Given the description of an element on the screen output the (x, y) to click on. 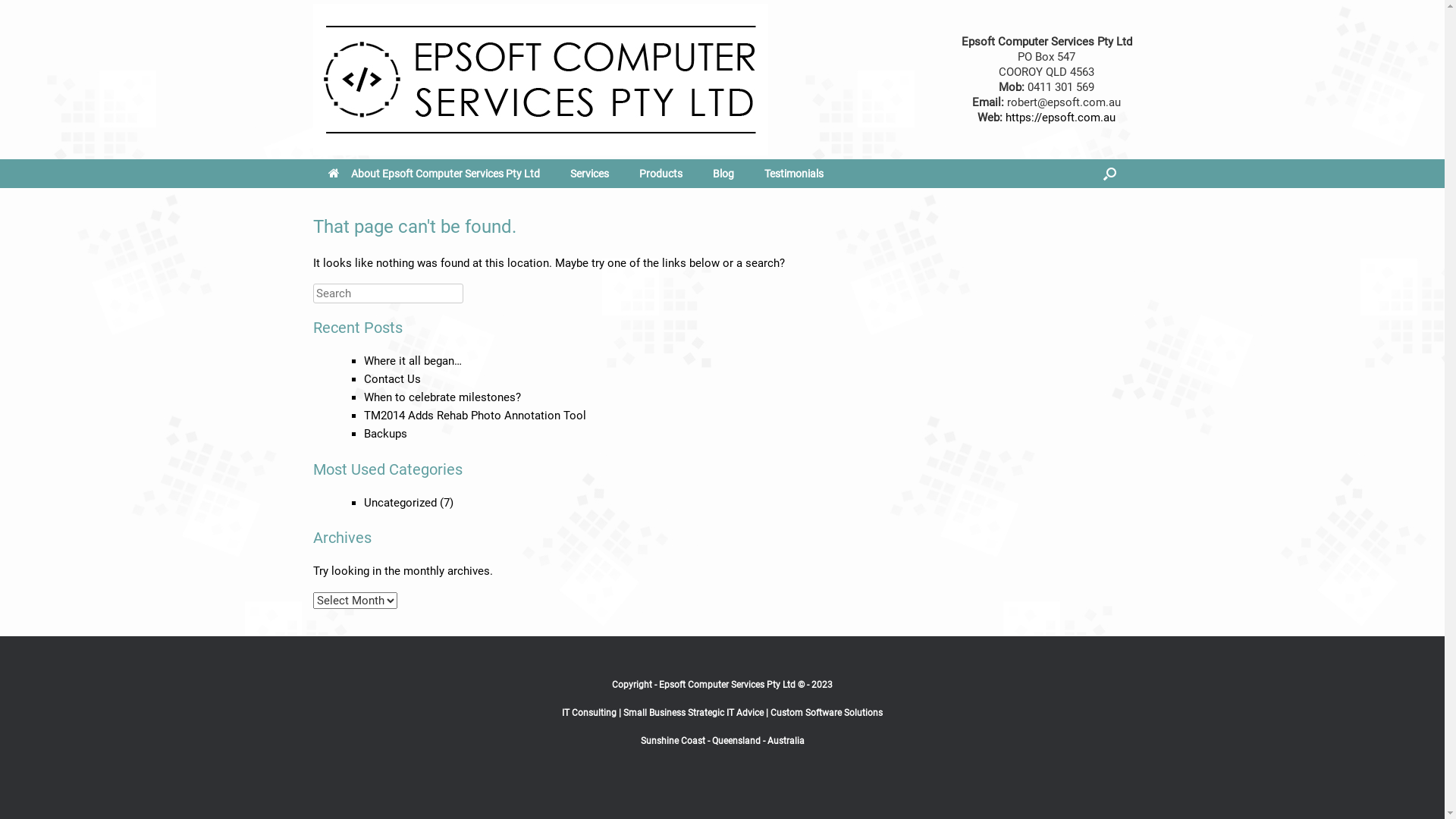
When to celebrate milestones? Element type: text (442, 397)
Testimonials Element type: text (793, 173)
Services Element type: text (589, 173)
TM2014 Adds Rehab Photo Annotation Tool Element type: text (475, 415)
Contact Us Element type: text (392, 378)
About Epsoft Computer Services Pty Ltd Element type: text (433, 173)
https://epsoft.com.au Element type: text (1060, 117)
Epsoft Computer Services Pty Ltd Element type: hover (539, 79)
Uncategorized Element type: text (400, 502)
Backups Element type: text (385, 433)
Products Element type: text (659, 173)
Blog Element type: text (723, 173)
